Given the description of an element on the screen output the (x, y) to click on. 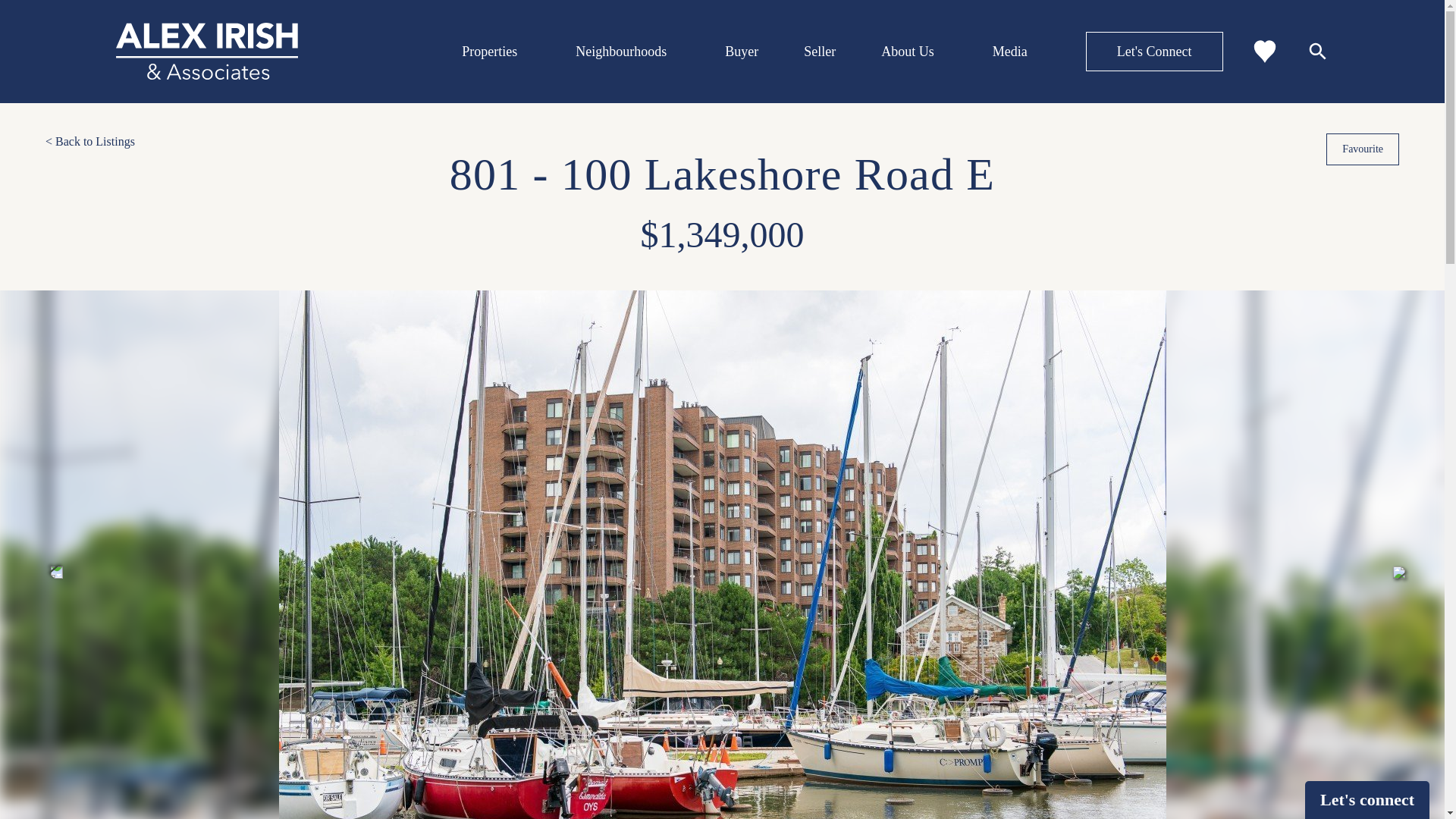
Media (1009, 51)
Seller (819, 51)
Neighbourhoods (620, 51)
Let's Connect (1154, 51)
Properties (488, 51)
Buyer (741, 51)
Favourite (1362, 149)
About Us (907, 51)
